Given the description of an element on the screen output the (x, y) to click on. 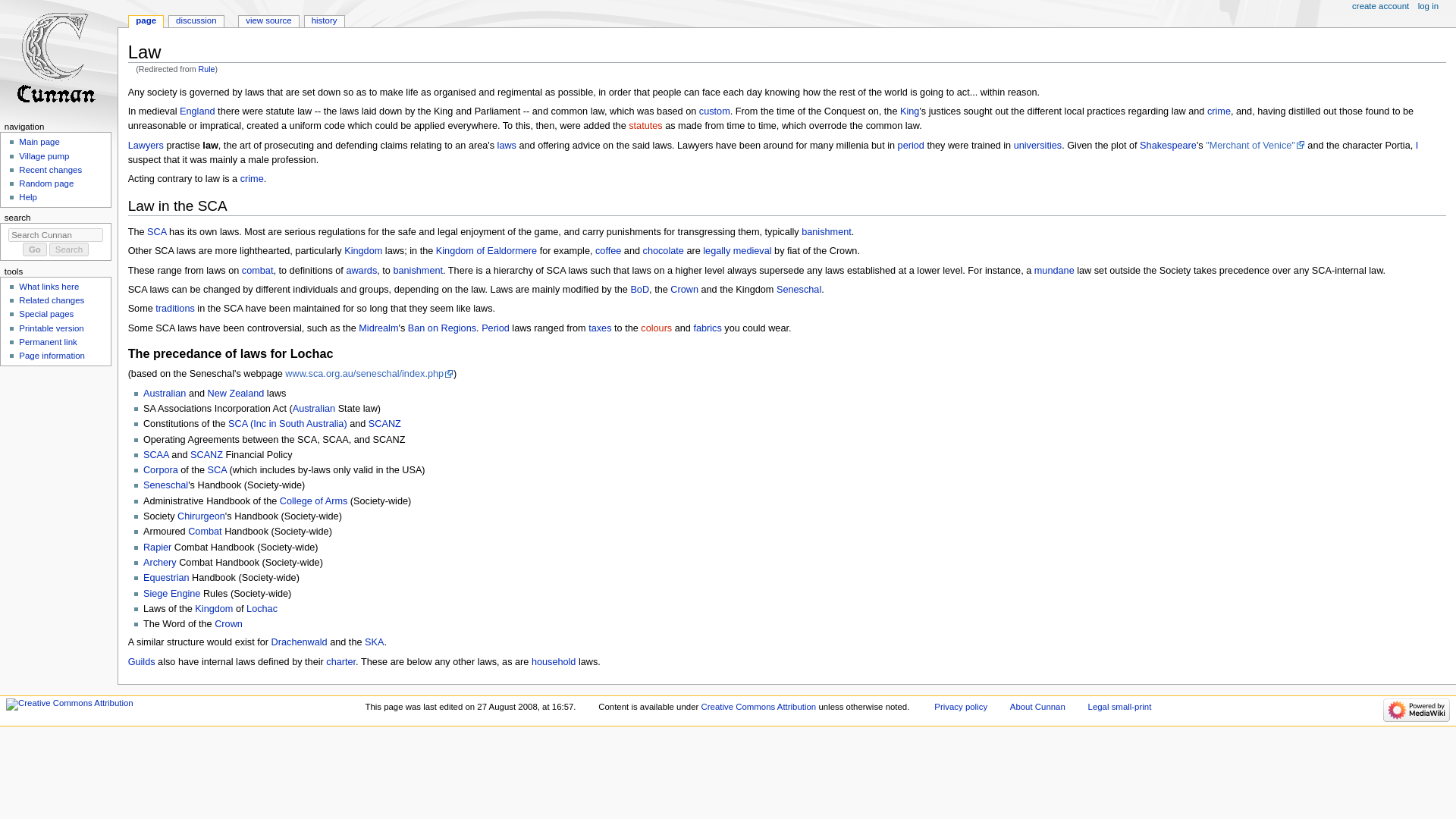
Coffee (608, 250)
Crime (1218, 111)
custom (714, 111)
Universities (1037, 145)
Lawyers (145, 145)
Australian (164, 393)
Banishment (826, 231)
Seneschal (798, 289)
statutes (645, 125)
"Merchant of Venice" (1254, 145)
Go (34, 249)
King (908, 111)
period (911, 145)
legally medieval (737, 250)
banishment (417, 270)
